Given the description of an element on the screen output the (x, y) to click on. 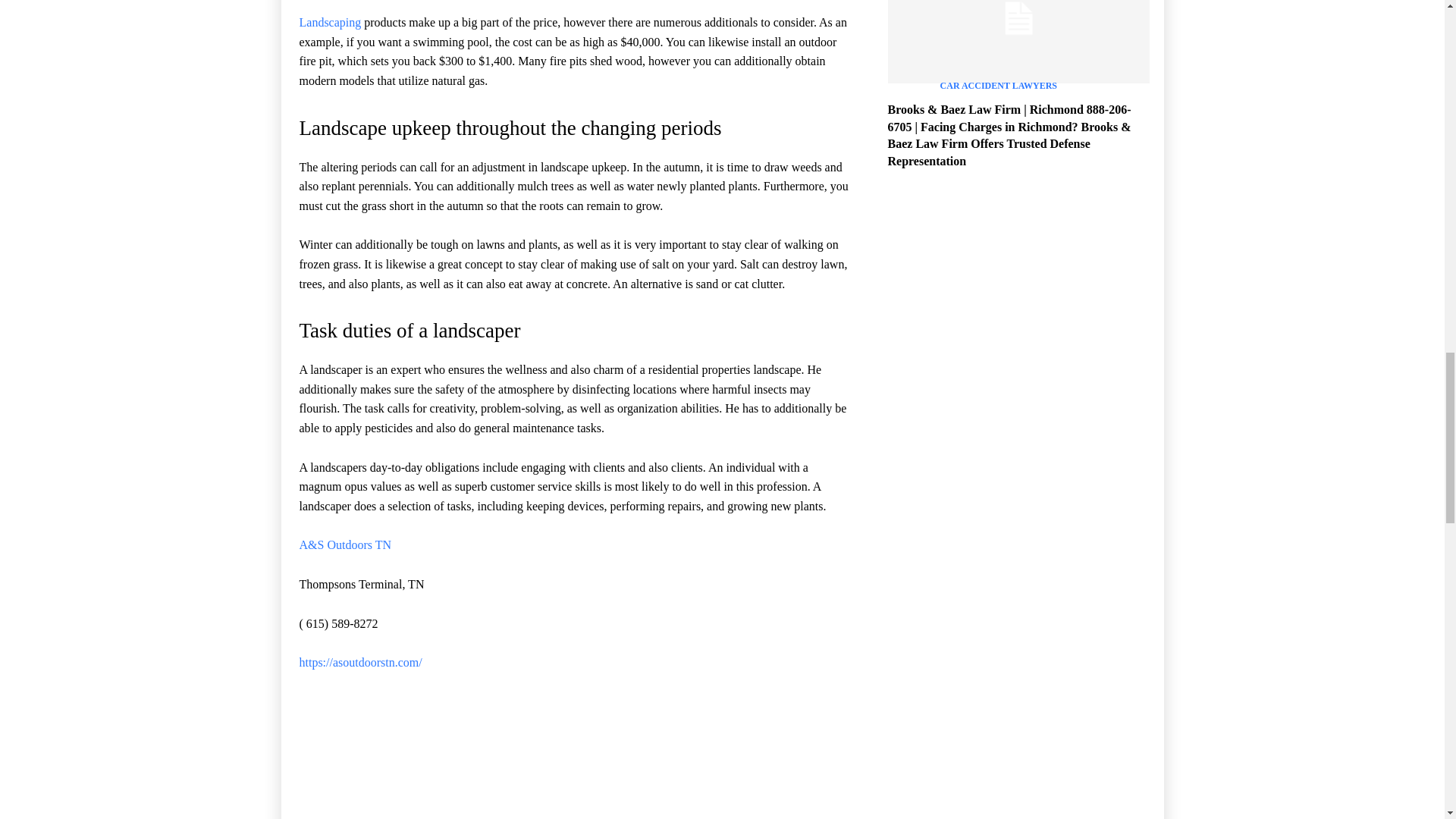
Landscaping (329, 21)
